Given the description of an element on the screen output the (x, y) to click on. 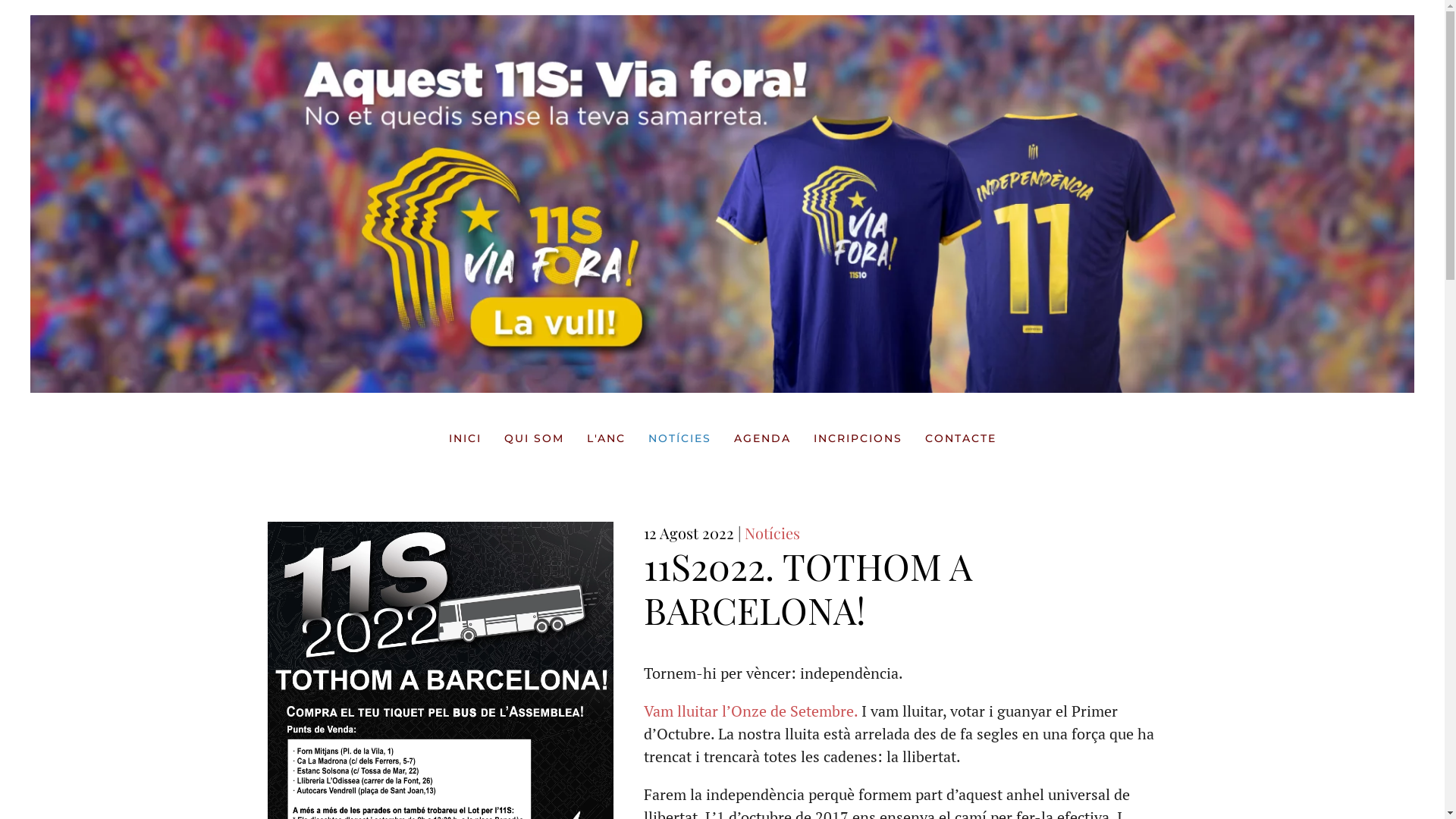
CONTACTE Element type: text (960, 437)
AGENDA Element type: text (762, 437)
QUI SOM Element type: text (533, 437)
L'ANC Element type: text (605, 437)
INICI Element type: text (464, 437)
INCRIPCIONS Element type: text (856, 437)
